Given the description of an element on the screen output the (x, y) to click on. 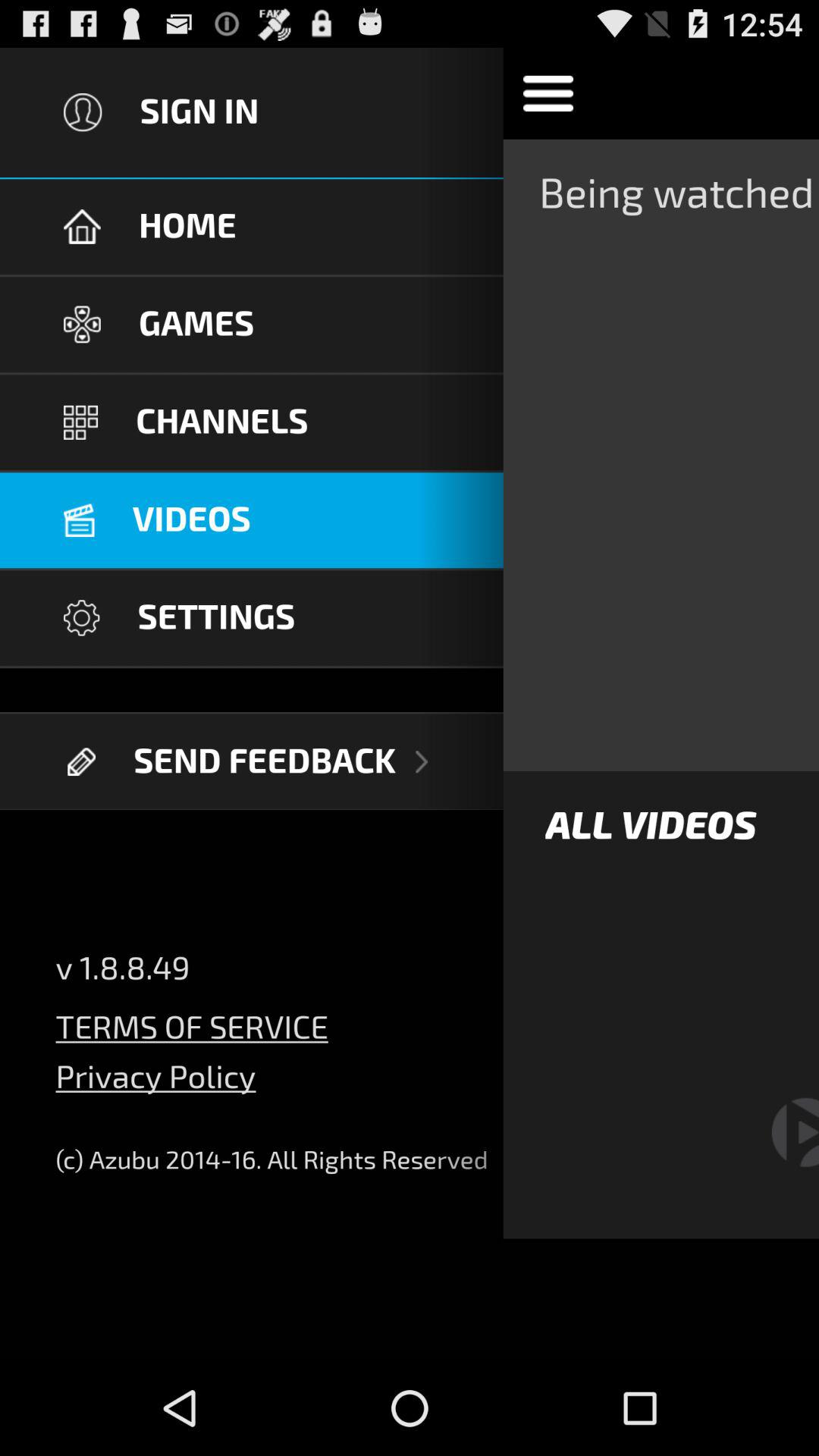
turn on the privacy policy item (155, 1087)
